Given the description of an element on the screen output the (x, y) to click on. 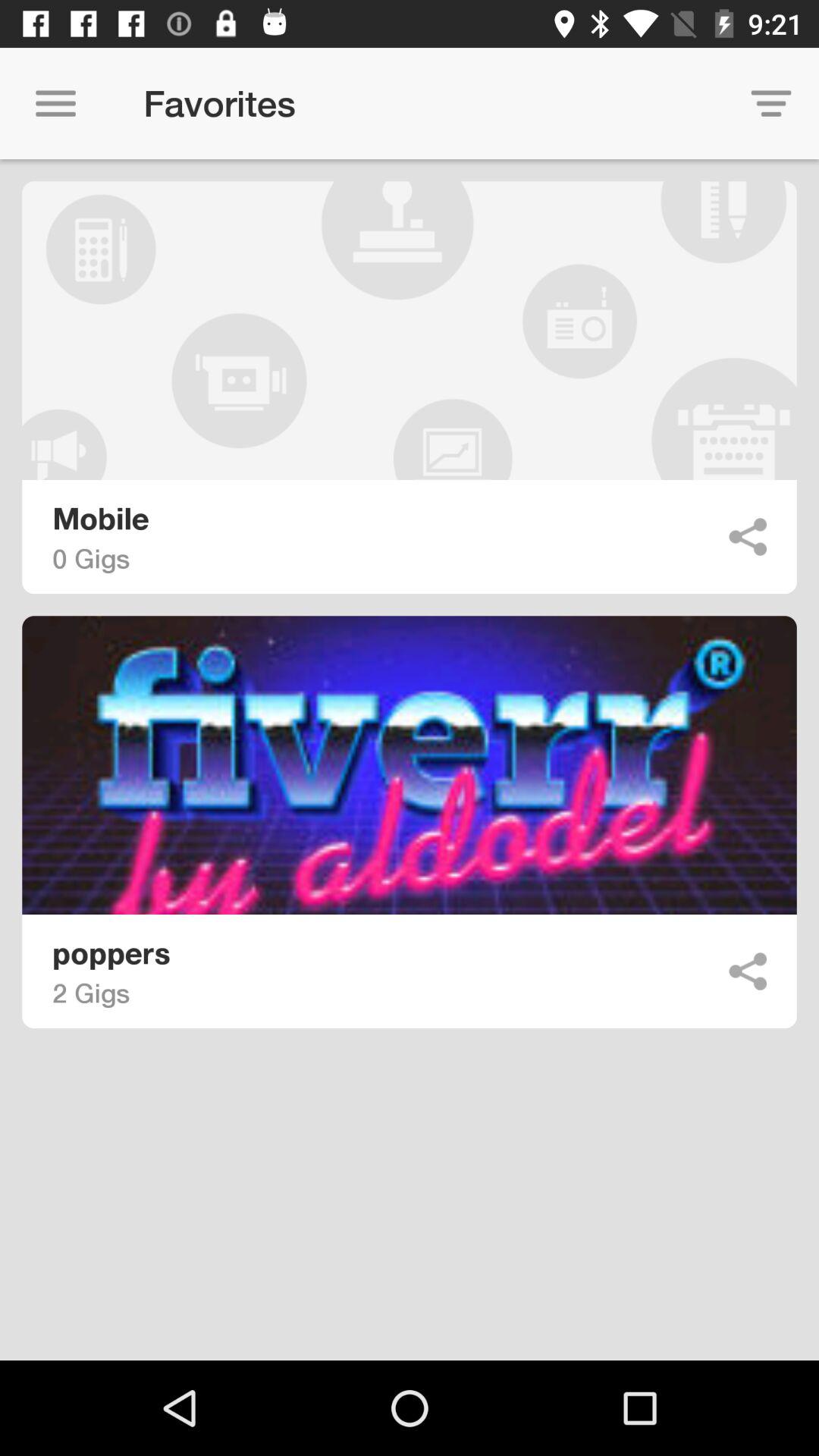
share the article (747, 536)
